Given the description of an element on the screen output the (x, y) to click on. 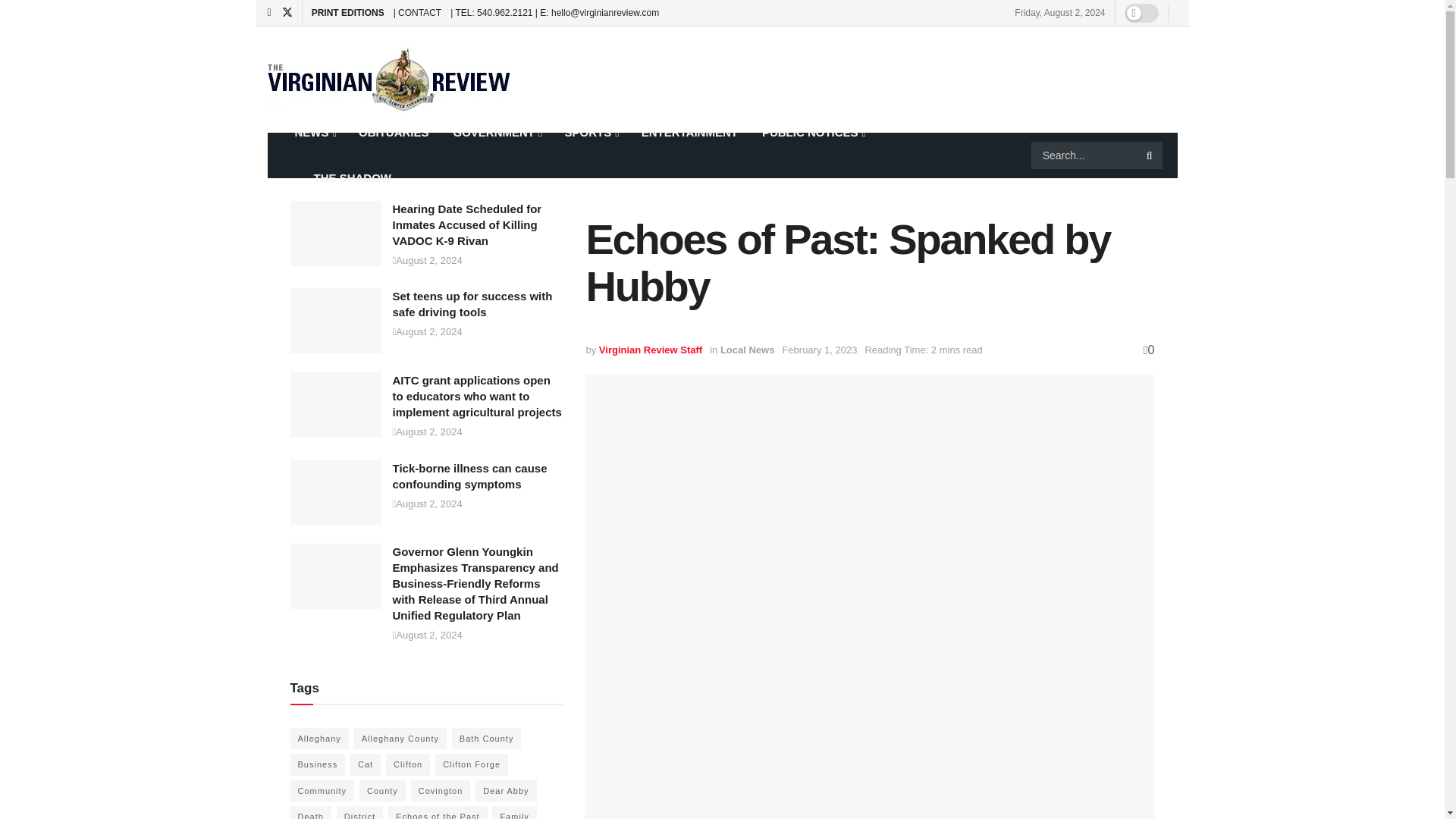
PUBLIC NOTICES (812, 132)
PRINT EDITIONS (347, 12)
ENTERTAINMENT (688, 132)
SPORTS (589, 132)
GOVERNMENT (497, 132)
THE SHADOW (342, 177)
OBITUARIES (393, 132)
NEWS (314, 132)
